Given the description of an element on the screen output the (x, y) to click on. 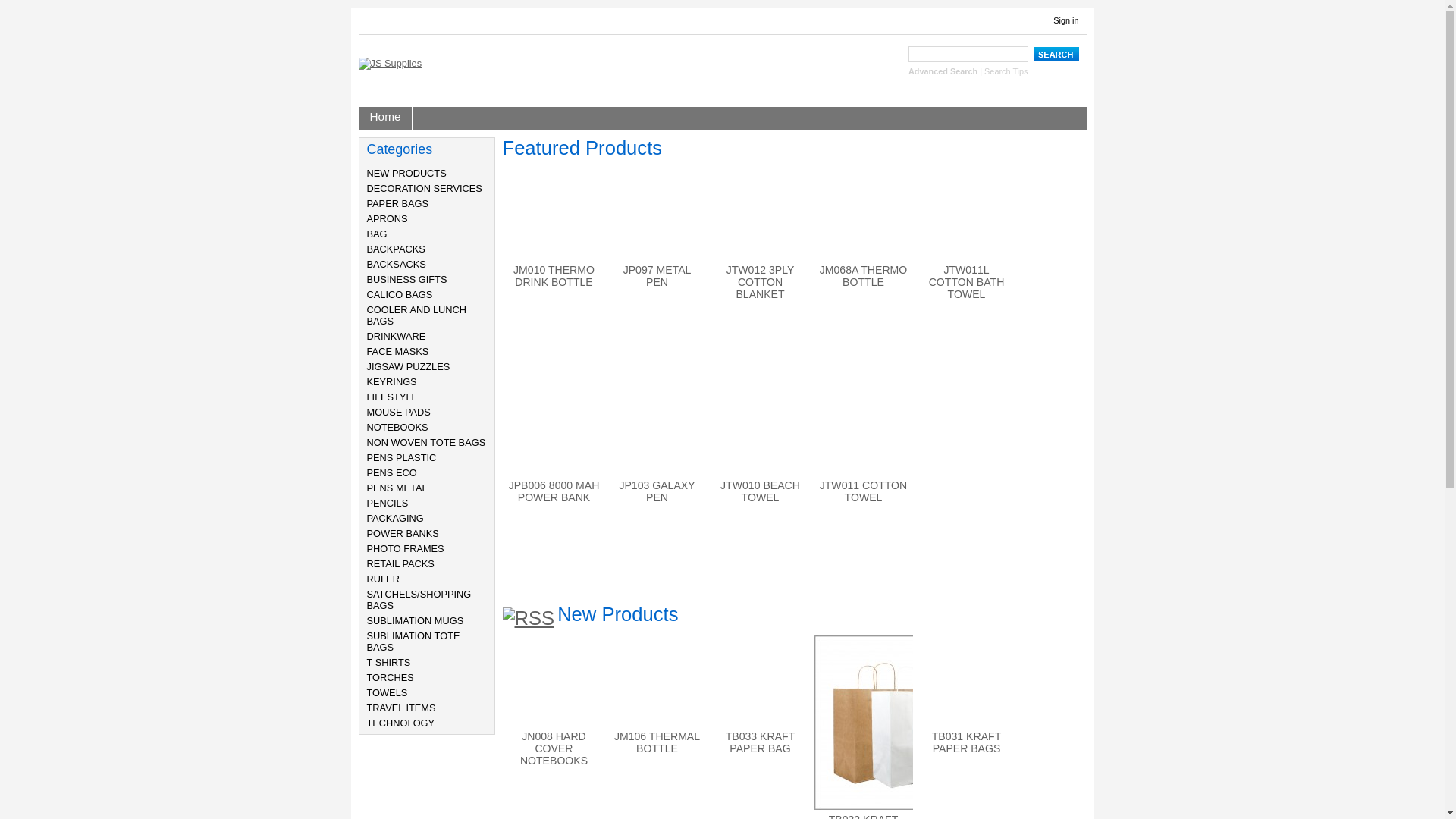
JPB006 8000 MAH POWER BANK Element type: text (553, 491)
NOTEBOOKS Element type: text (397, 427)
T SHIRTS Element type: text (389, 662)
JIGSAW PUZZLES Element type: text (408, 366)
KEYRINGS Element type: text (392, 381)
RULER Element type: text (383, 578)
TB033 KRAFT PAPER BAG Element type: text (760, 742)
TORCHES Element type: text (390, 677)
PENS METAL Element type: text (397, 487)
JN008 HARD COVER NOTEBOOKS Element type: text (553, 748)
PACKAGING Element type: text (395, 518)
PAPER BAGS Element type: text (398, 203)
JTW011 COTTON TOWEL Element type: text (863, 491)
JP103 GALAXY PEN Element type: text (656, 491)
PHOTO FRAMES Element type: text (405, 548)
SUBLIMATION MUGS Element type: text (415, 620)
JM068A THERMO BOTTLE Element type: text (863, 275)
Search Tips Element type: text (1005, 70)
LIFESTYLE Element type: text (392, 396)
DECORATION SERVICES Element type: text (424, 188)
JTW012 3PLY COTTON BLANKET Element type: text (760, 281)
SUBLIMATION TOTE BAGS Element type: text (413, 641)
New Products RSS Feed Element type: hover (528, 618)
RETAIL PACKS Element type: text (400, 563)
PENS ECO Element type: text (392, 472)
BAG Element type: text (377, 233)
PENCILS Element type: text (387, 502)
PENS PLASTIC Element type: text (401, 457)
CALICO BAGS Element type: text (400, 294)
Home Element type: text (384, 117)
DRINKWARE Element type: text (396, 336)
BUSINESS GIFTS Element type: text (407, 279)
JTW010 BEACH TOWEL Element type: text (760, 491)
FACE MASKS Element type: text (398, 351)
JTW011L COTTON BATH TOWEL Element type: text (966, 281)
SATCHELS/SHOPPING BAGS Element type: text (419, 599)
BACKSACKS Element type: text (396, 263)
NON WOVEN TOTE BAGS Element type: text (426, 442)
BACKPACKS Element type: text (396, 248)
APRONS Element type: text (387, 218)
TOWELS Element type: text (387, 692)
JM106 THERMAL BOTTLE Element type: text (656, 742)
POWER BANKS Element type: text (403, 533)
JM010 THERMO DRINK BOTTLE Element type: text (553, 275)
Advanced Search Element type: text (942, 70)
TB031 KRAFT PAPER BAGS Element type: text (966, 742)
TECHNOLOGY Element type: text (401, 722)
COOLER AND LUNCH BAGS Element type: text (417, 315)
JP097 METAL PEN Element type: text (657, 275)
TRAVEL ITEMS Element type: text (401, 707)
Sign in Element type: text (1065, 20)
MOUSE PADS Element type: text (398, 411)
NEW PRODUCTS Element type: text (406, 172)
